Given the description of an element on the screen output the (x, y) to click on. 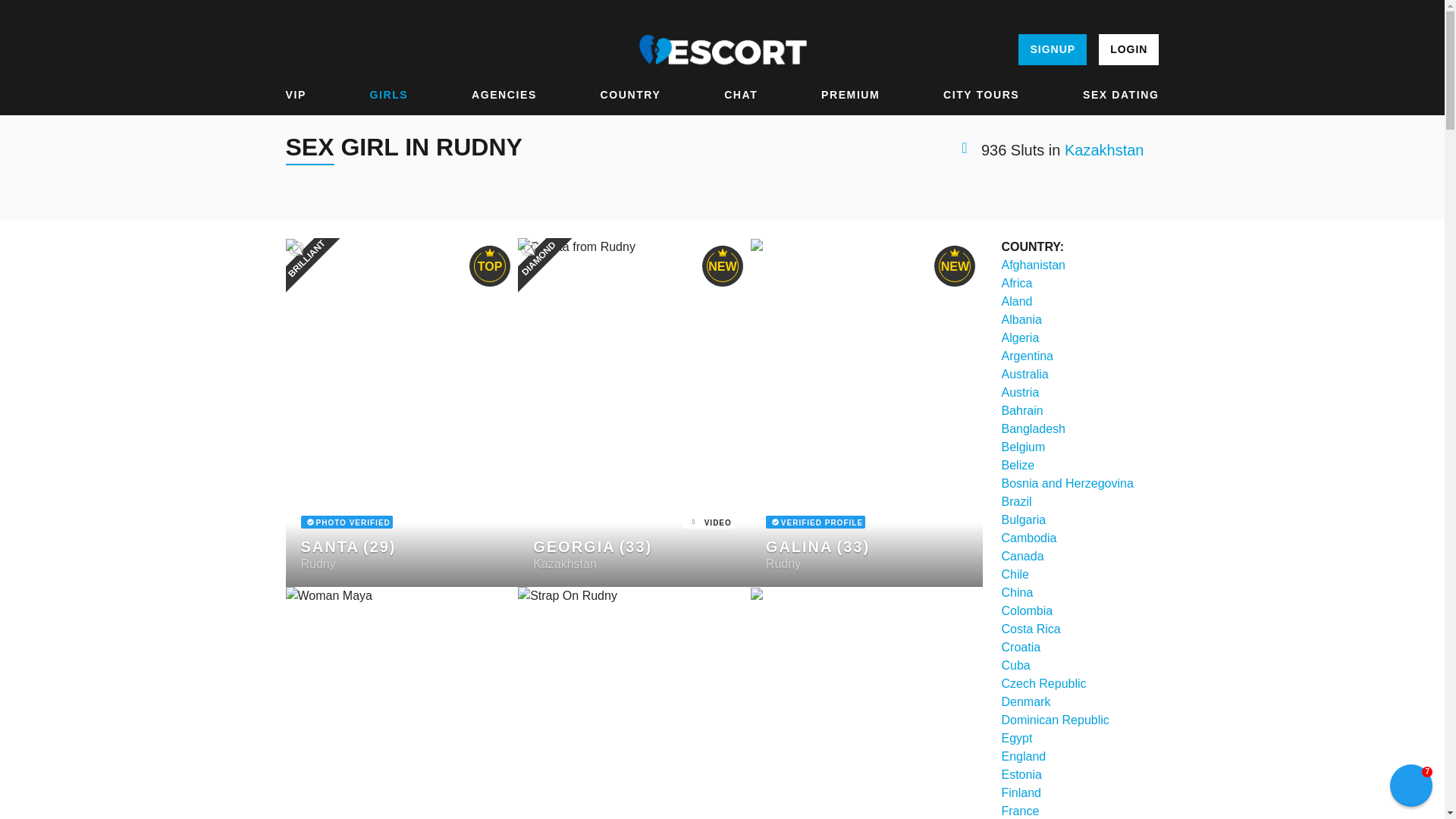
VIP (295, 94)
Kazakhstan (1104, 149)
CITY TOURS (981, 94)
SIGNUP (1051, 49)
COUNTRY (630, 94)
AGENCIES (504, 94)
GIRLS (389, 94)
LOGIN (1128, 49)
PREMIUM (850, 94)
CHAT (740, 94)
